Given the description of an element on the screen output the (x, y) to click on. 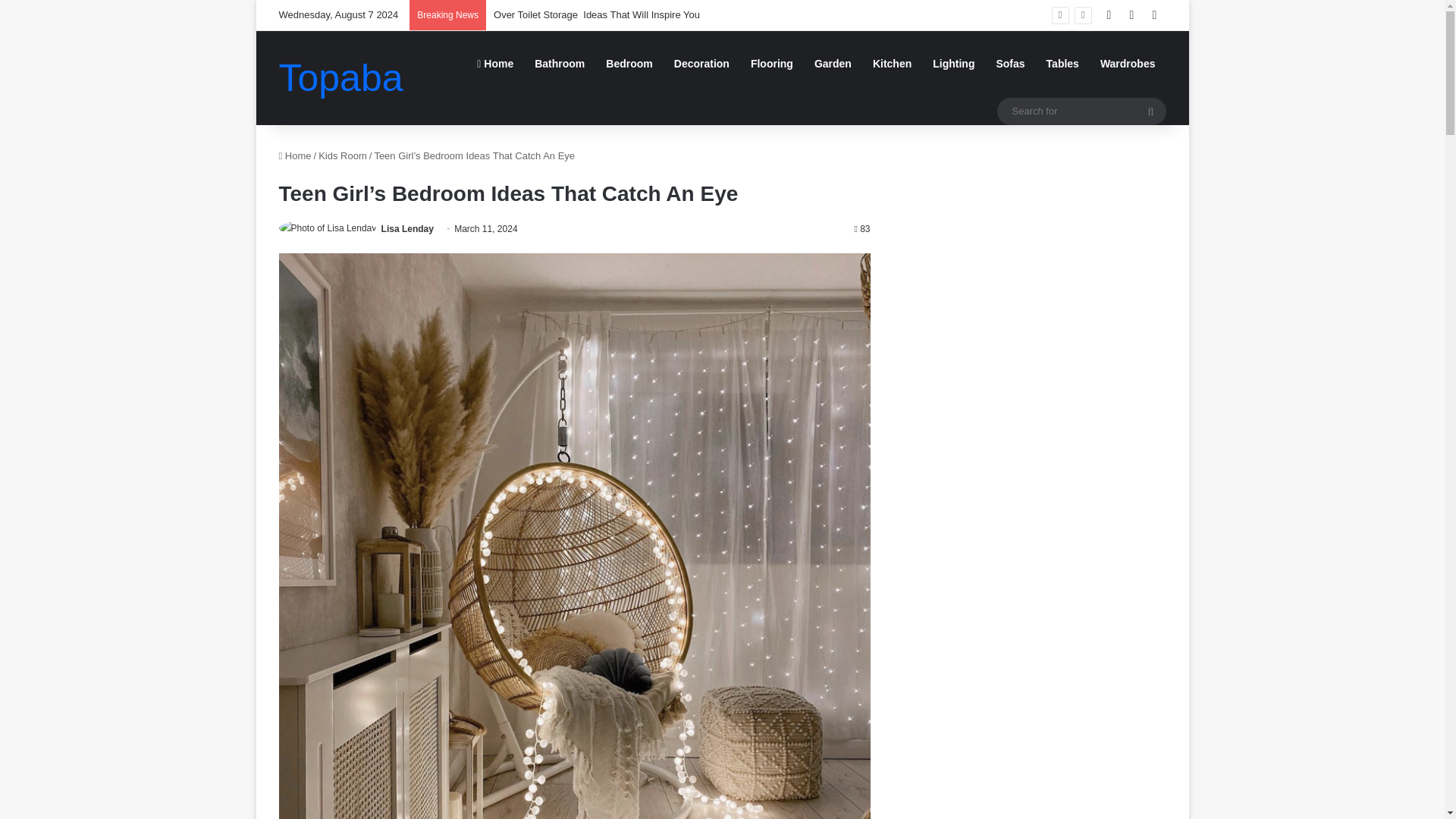
Flooring (771, 63)
Over Toilet Storage  Ideas That Will Inspire You (596, 14)
Home (295, 155)
Wardrobes (1127, 63)
Topaba (341, 77)
Bedroom (628, 63)
Search for (1150, 111)
Topaba (341, 77)
Search for (1080, 110)
Kids Room (342, 155)
Lisa Lenday (407, 228)
Decoration (701, 63)
Bathroom (559, 63)
Lisa Lenday (407, 228)
Lighting (953, 63)
